Given the description of an element on the screen output the (x, y) to click on. 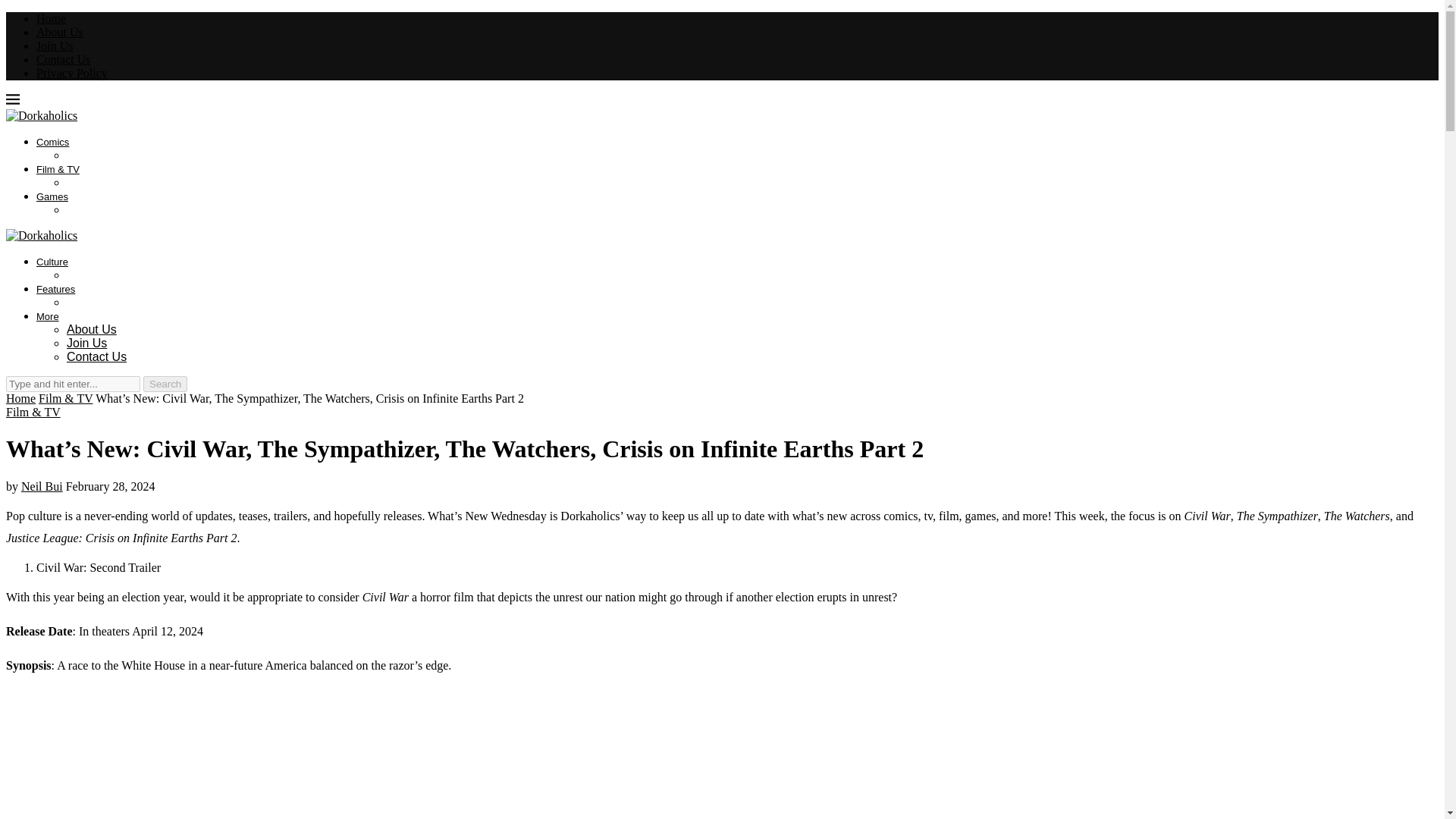
Neil Bui (41, 486)
Home (50, 18)
Contact Us (63, 59)
Search (164, 383)
Privacy Policy (71, 72)
Features (55, 288)
More (47, 316)
About Us (91, 328)
Games (52, 196)
Contact Us (96, 356)
Home (19, 398)
Culture (52, 261)
Comics (52, 142)
Join Us (54, 45)
Join Us (86, 342)
